Given the description of an element on the screen output the (x, y) to click on. 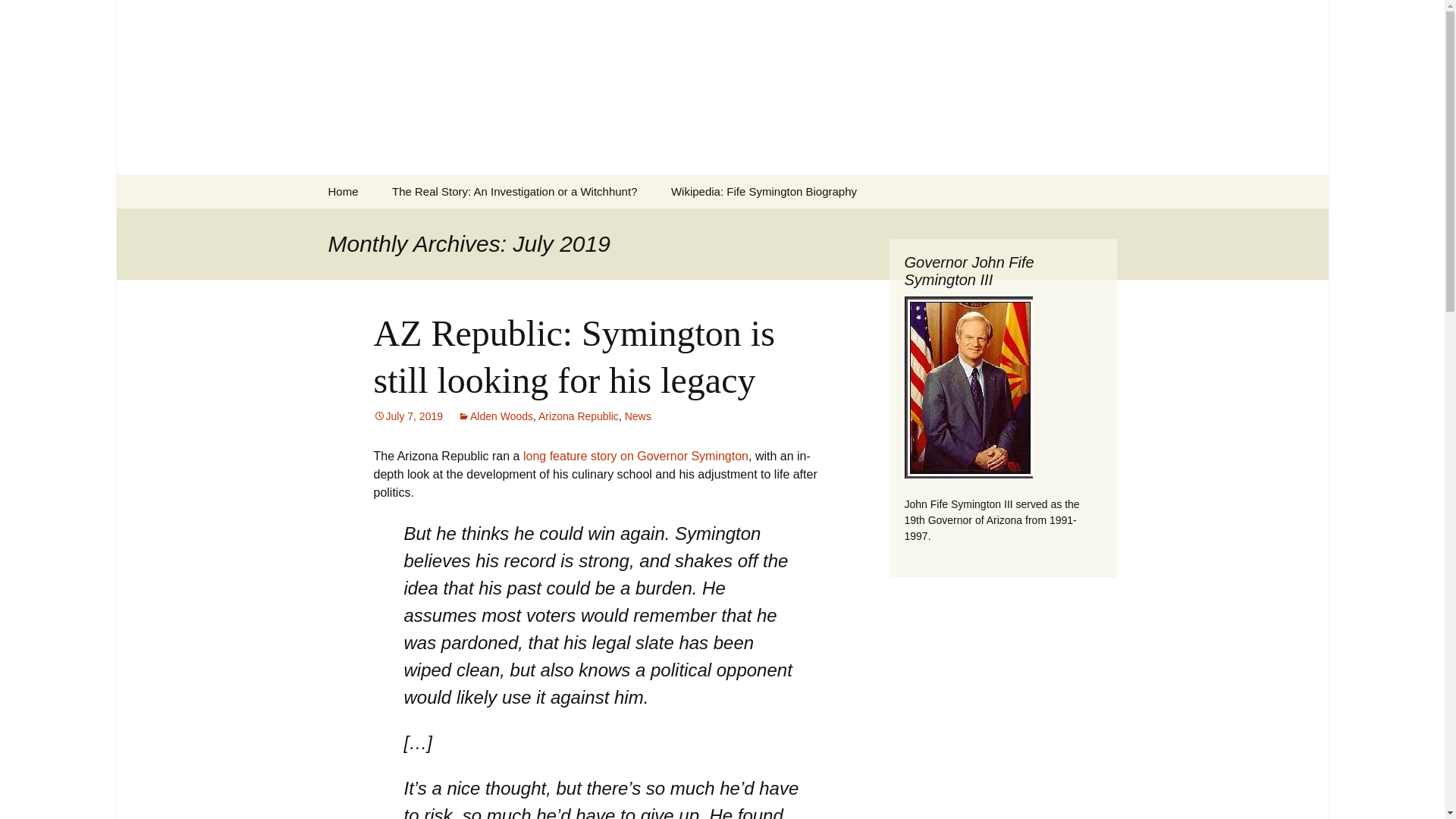
July 7, 2019 (407, 416)
AZ Republic: Symington is still looking for his legacy (573, 356)
long feature story on Governor Symington (764, 191)
The Real Story: An Investigation or a Witchhunt? (635, 455)
News (514, 191)
The Real Story (637, 416)
